Given the description of an element on the screen output the (x, y) to click on. 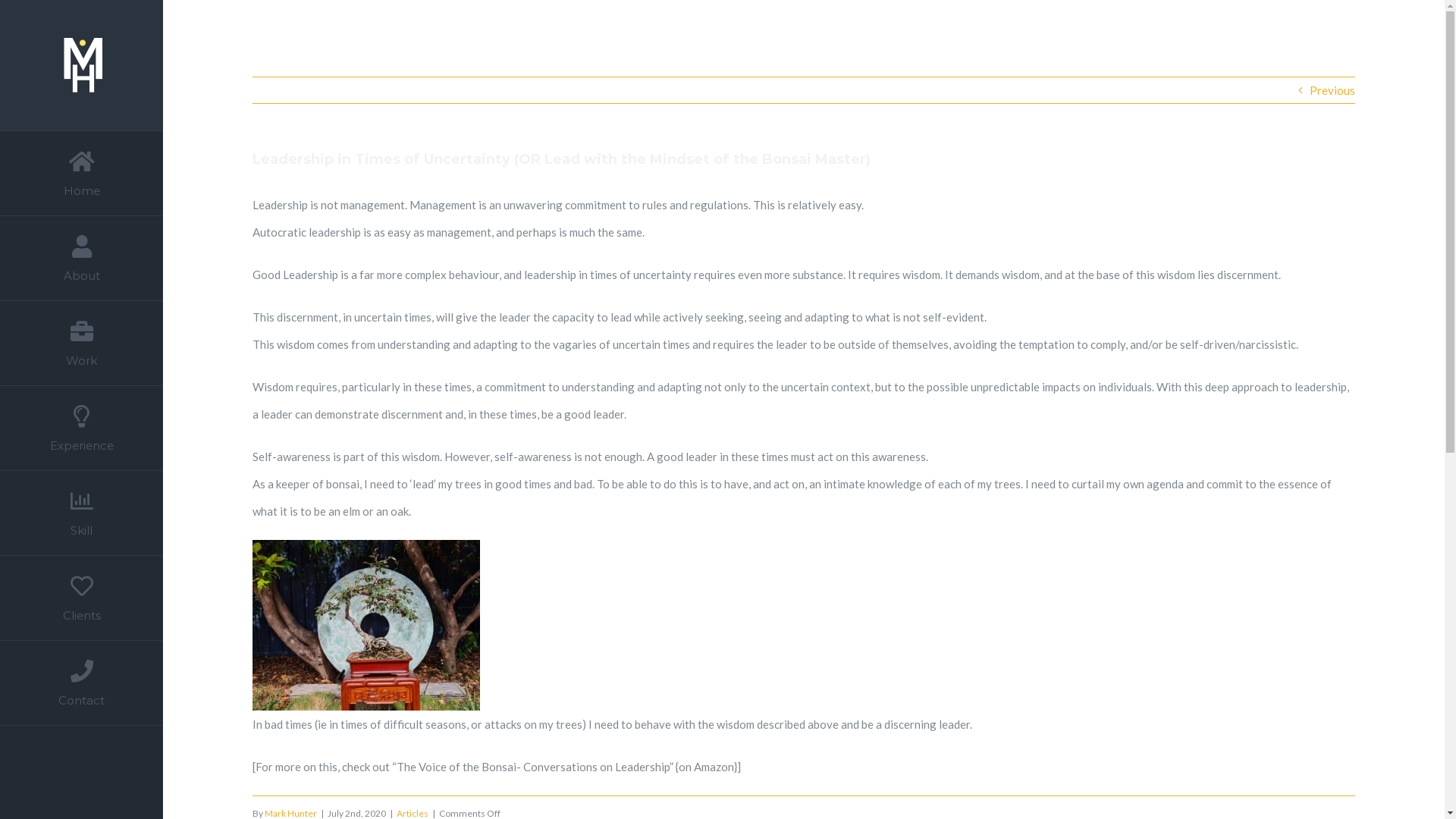
Previous Element type: text (1332, 90)
About Element type: text (81, 258)
Home Element type: text (81, 173)
Skill Element type: text (81, 512)
Contact Element type: text (81, 682)
Clients Element type: text (81, 597)
Experience Element type: text (81, 427)
Work Element type: text (81, 343)
